Given the description of an element on the screen output the (x, y) to click on. 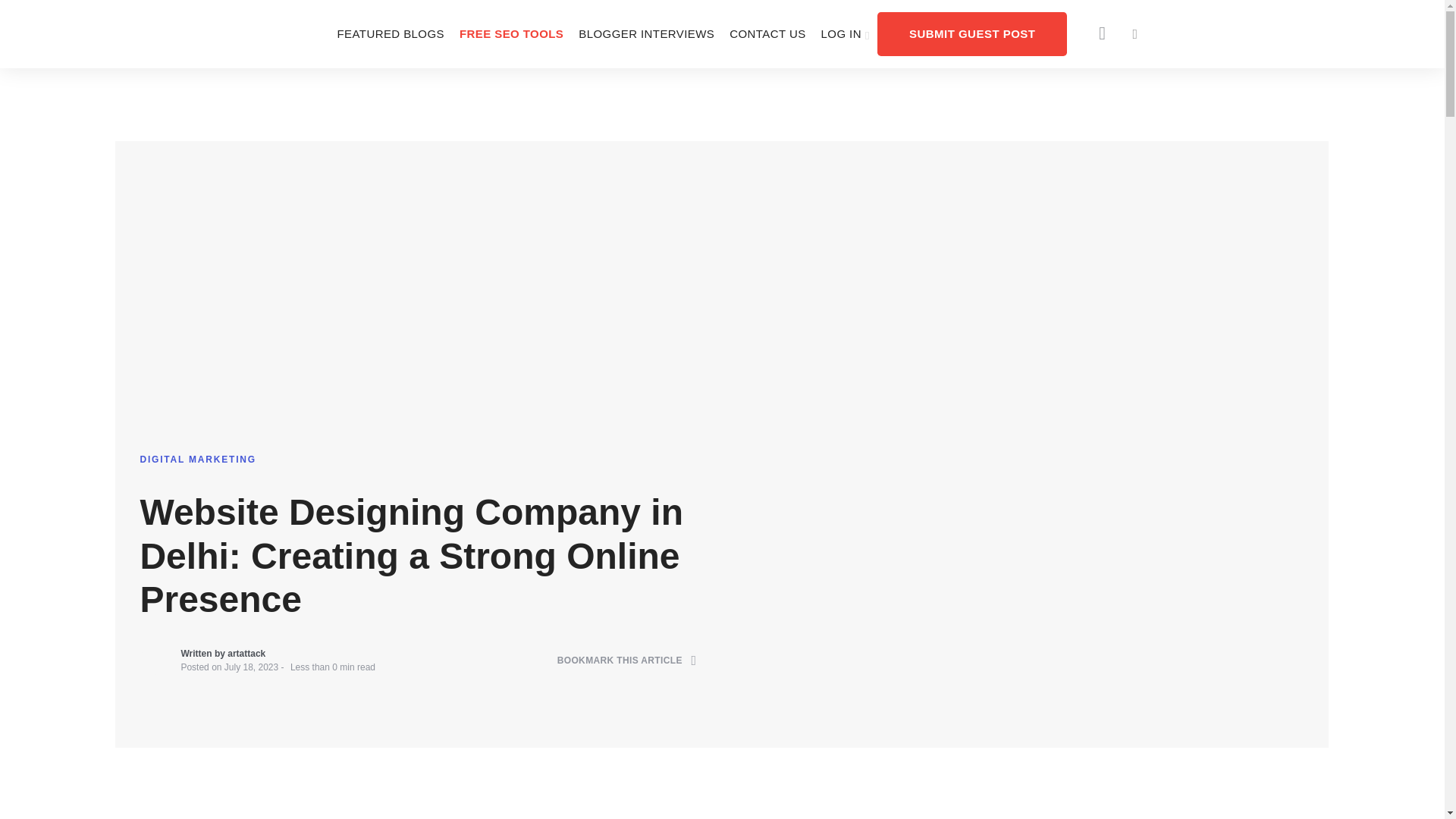
BOOKMARK THIS ARTICLE (627, 660)
July 18, 2023 (251, 666)
FEATURED BLOGS (390, 33)
FREE SEO TOOLS (510, 33)
FREE SEO TOOLS (510, 33)
FEATURED BLOGS (390, 33)
DIGITAL MARKETING (197, 459)
artattack (245, 653)
SUBMIT GUEST POST (972, 33)
BLOGGER INTERVIEWS (646, 33)
